Given the description of an element on the screen output the (x, y) to click on. 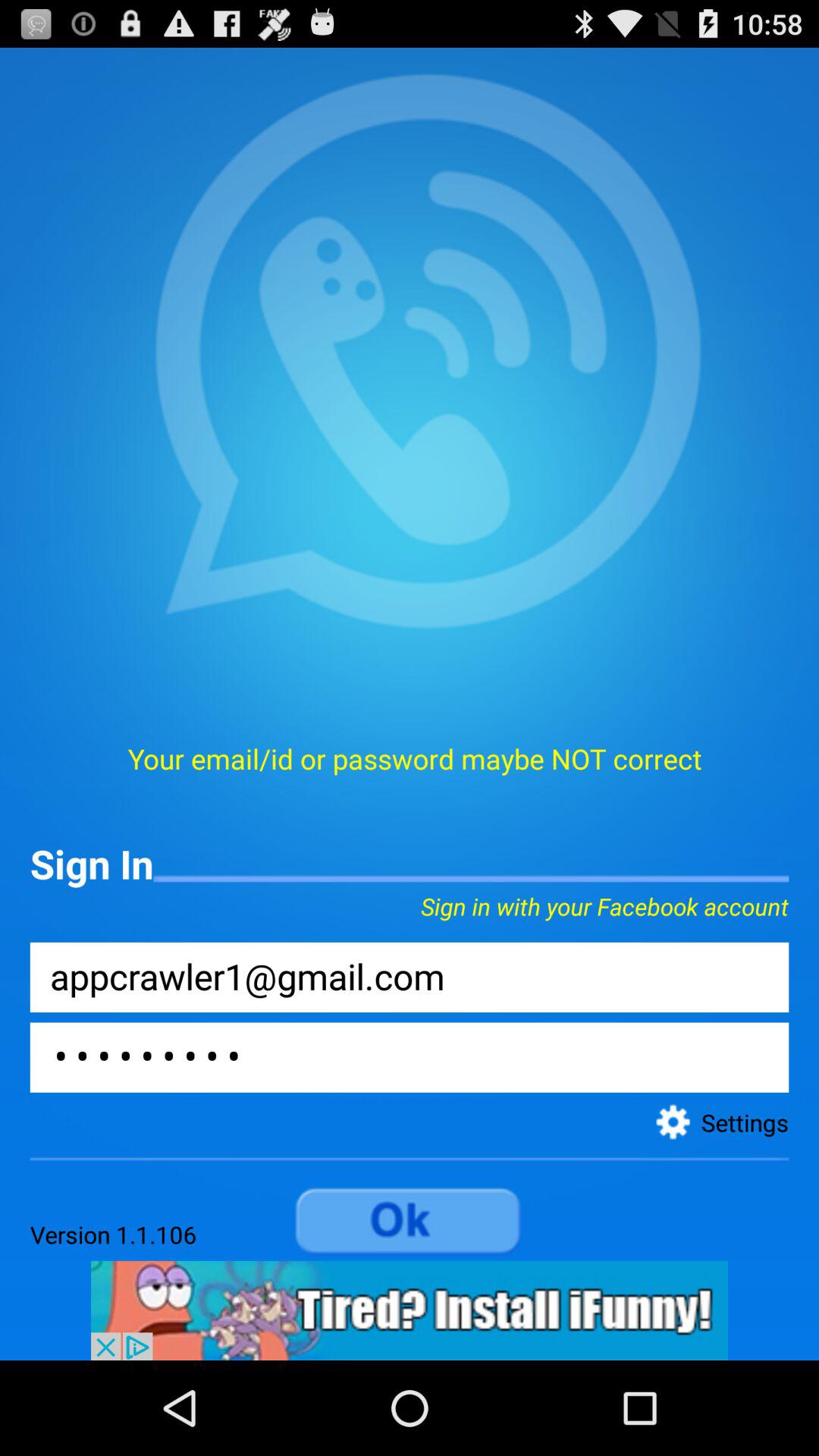
mail address form field (409, 977)
